Given the description of an element on the screen output the (x, y) to click on. 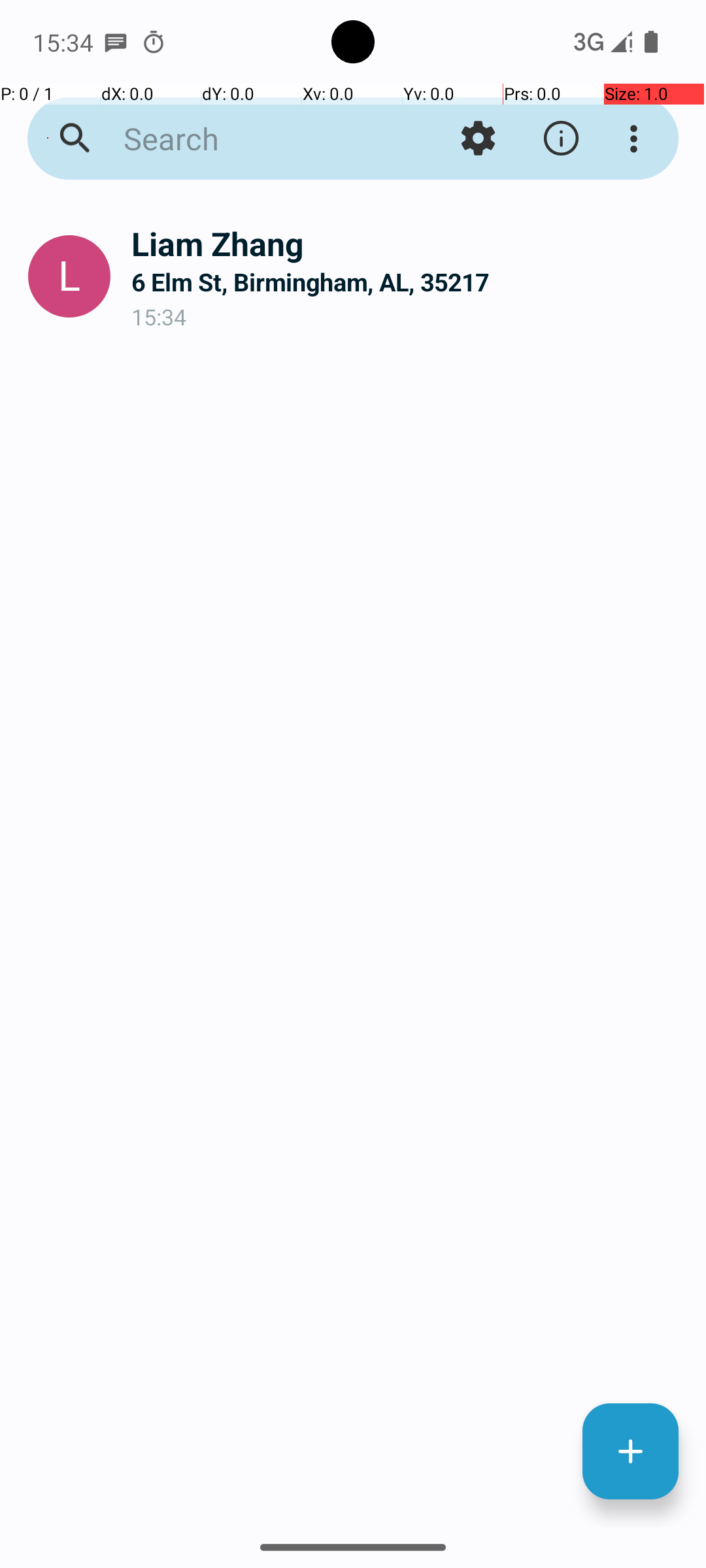
Liam Zhang Element type: android.widget.TextView (408, 242)
6 Elm St, Birmingham, AL, 35217 Element type: android.widget.TextView (408, 281)
SMS Messenger notification: Liam Zhang Element type: android.widget.ImageView (115, 41)
